Given the description of an element on the screen output the (x, y) to click on. 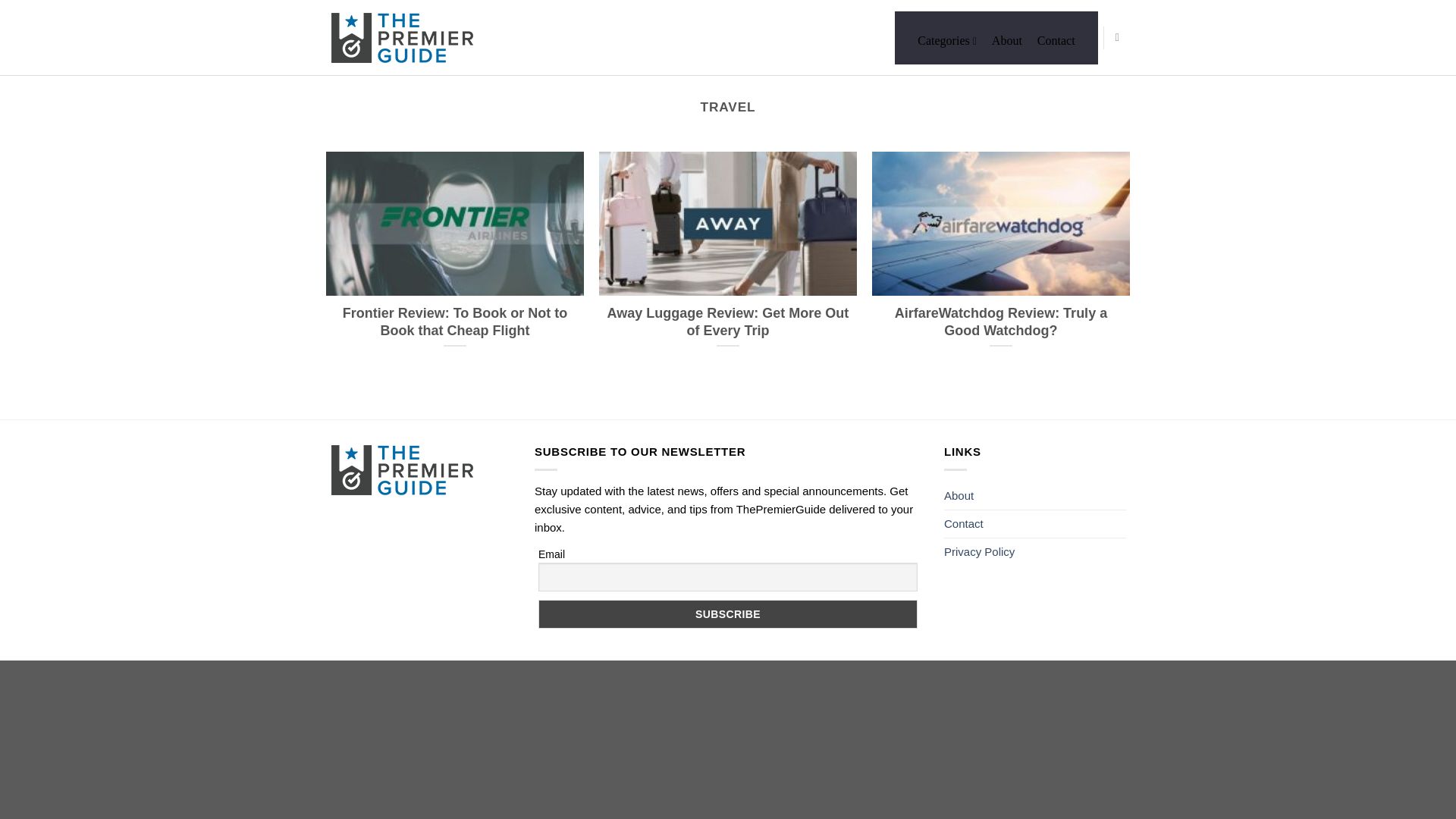
Subscribe (727, 613)
Privacy Policy (978, 551)
Subscribe (727, 613)
AirfareWatchdog Review: Truly a Good Watchdog? (1000, 258)
Contact (1056, 39)
Away Luggage Review: Get More Out of Every Trip (727, 258)
About (958, 495)
Contact (963, 523)
ThePremierGuide (405, 37)
Categories (947, 39)
